Given the description of an element on the screen output the (x, y) to click on. 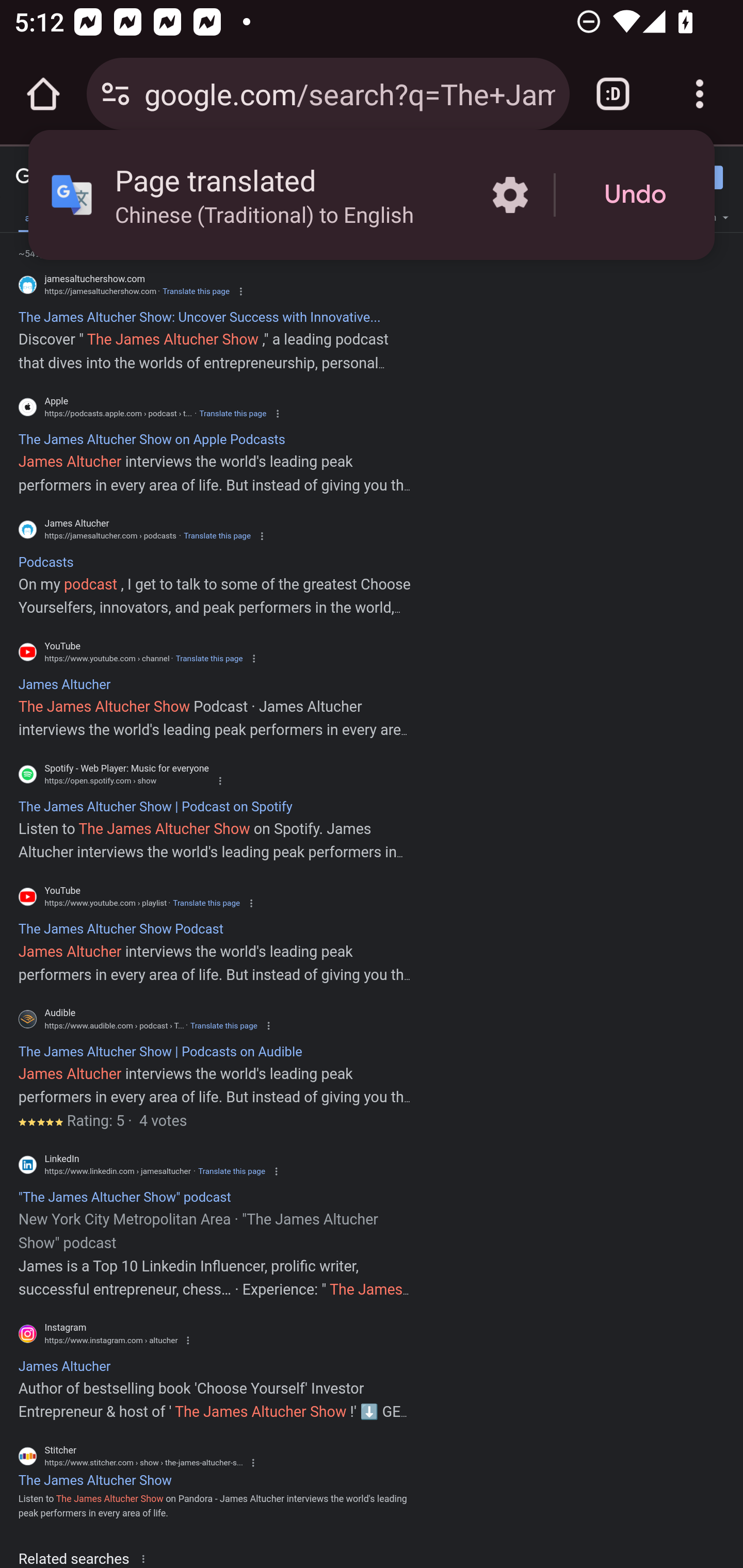
Open the home page (43, 93)
Connection is secure (115, 93)
Switch or close tabs (612, 93)
Customize and control Google Chrome (699, 93)
Undo (634, 195)
More options in the Page translated (509, 195)
Translate this page (195, 291)
Translate this page (232, 413)
Translate this page (217, 535)
Translate this page (208, 658)
Translate this page (206, 902)
Translate this page (223, 1025)
Translate this page (231, 1171)
About this result (146, 1557)
